Given the description of an element on the screen output the (x, y) to click on. 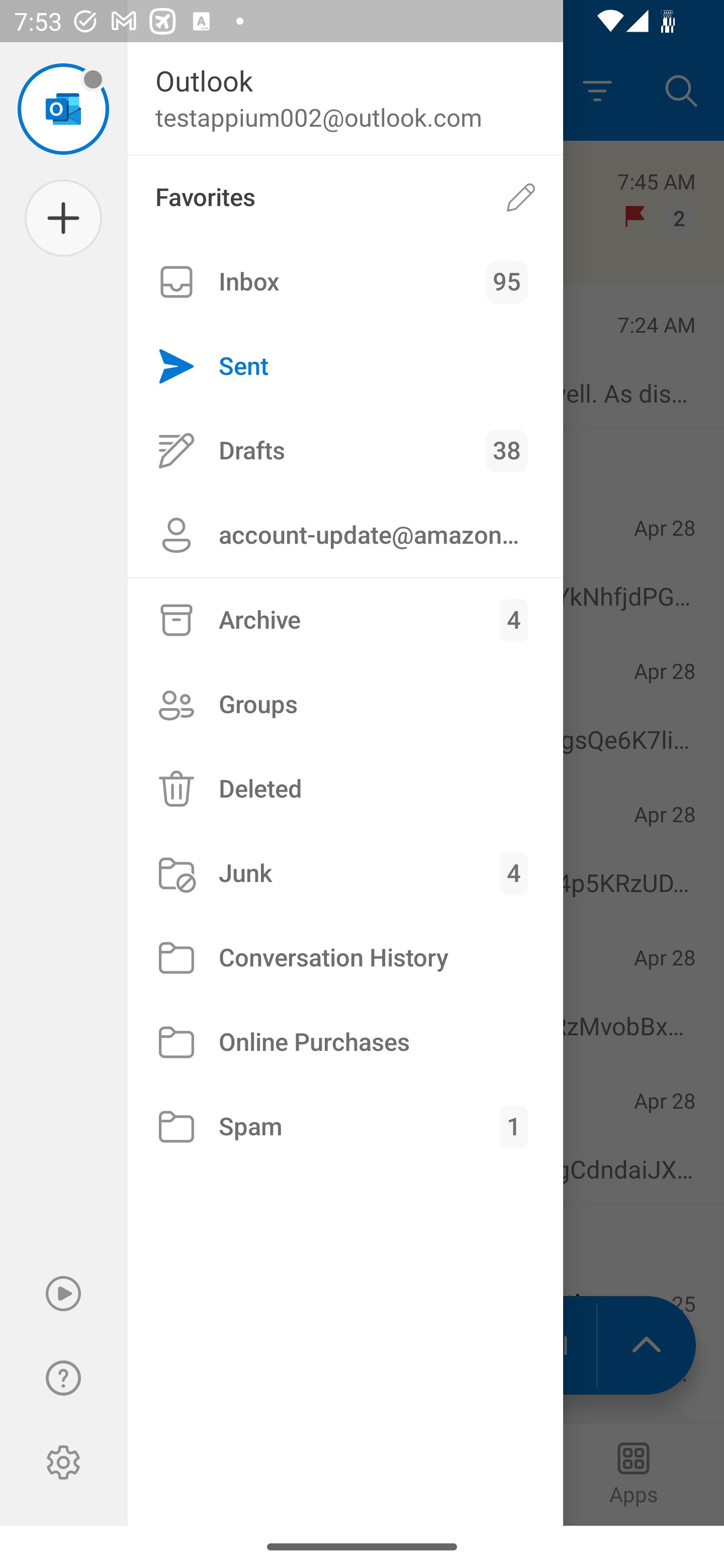
Edit favorites (520, 197)
Add account (63, 217)
Inbox Inbox, 95 unread emails (345, 281)
Sent Sent,Selected (345, 366)
Drafts Drafts, 38 unread emails (345, 450)
account-update@amazon.com (345, 534)
Archive Archive, 2 of 8, level 1, 4 unread emails (345, 619)
Groups Groups, 3 of 8, level 1 (345, 703)
Deleted Deleted, 4 of 8, level 1 (345, 788)
Junk Junk, 5 of 8, level 1, 4 unread emails (345, 873)
Online Purchases Online Purchases, 7 of 8, level 1 (345, 1042)
Spam Spam, 8 of 8, level 1, 1 unread email (345, 1127)
Play My Emails (62, 1293)
Help (62, 1377)
Settings (62, 1462)
